Given the description of an element on the screen output the (x, y) to click on. 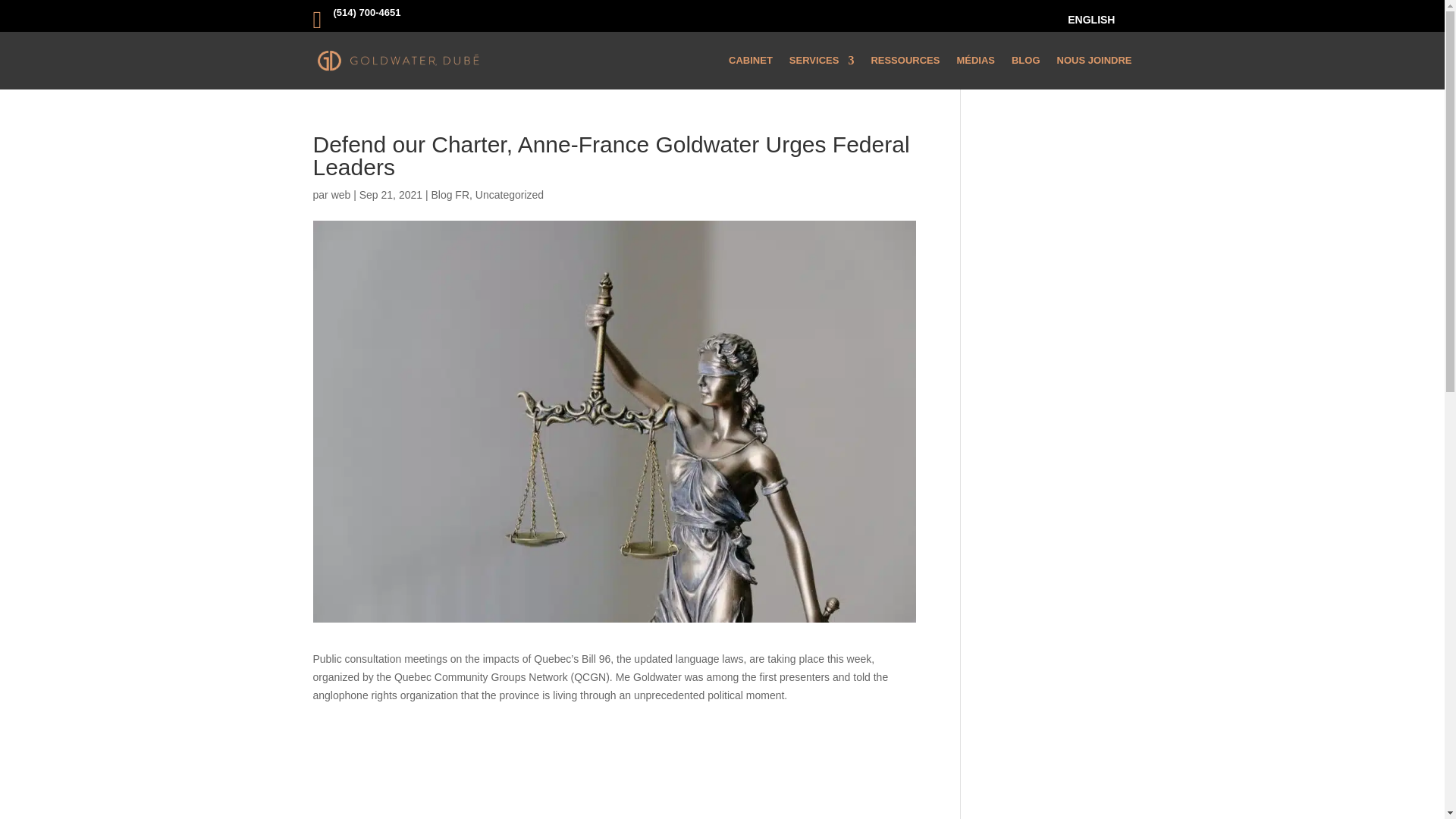
NOUS JOINDRE (1094, 60)
SERVICES (821, 60)
Articles de web (340, 194)
Uncategorized (509, 194)
Blog FR (449, 194)
web (340, 194)
RESSOURCES (904, 60)
ENGLISH (1091, 22)
